Given the description of an element on the screen output the (x, y) to click on. 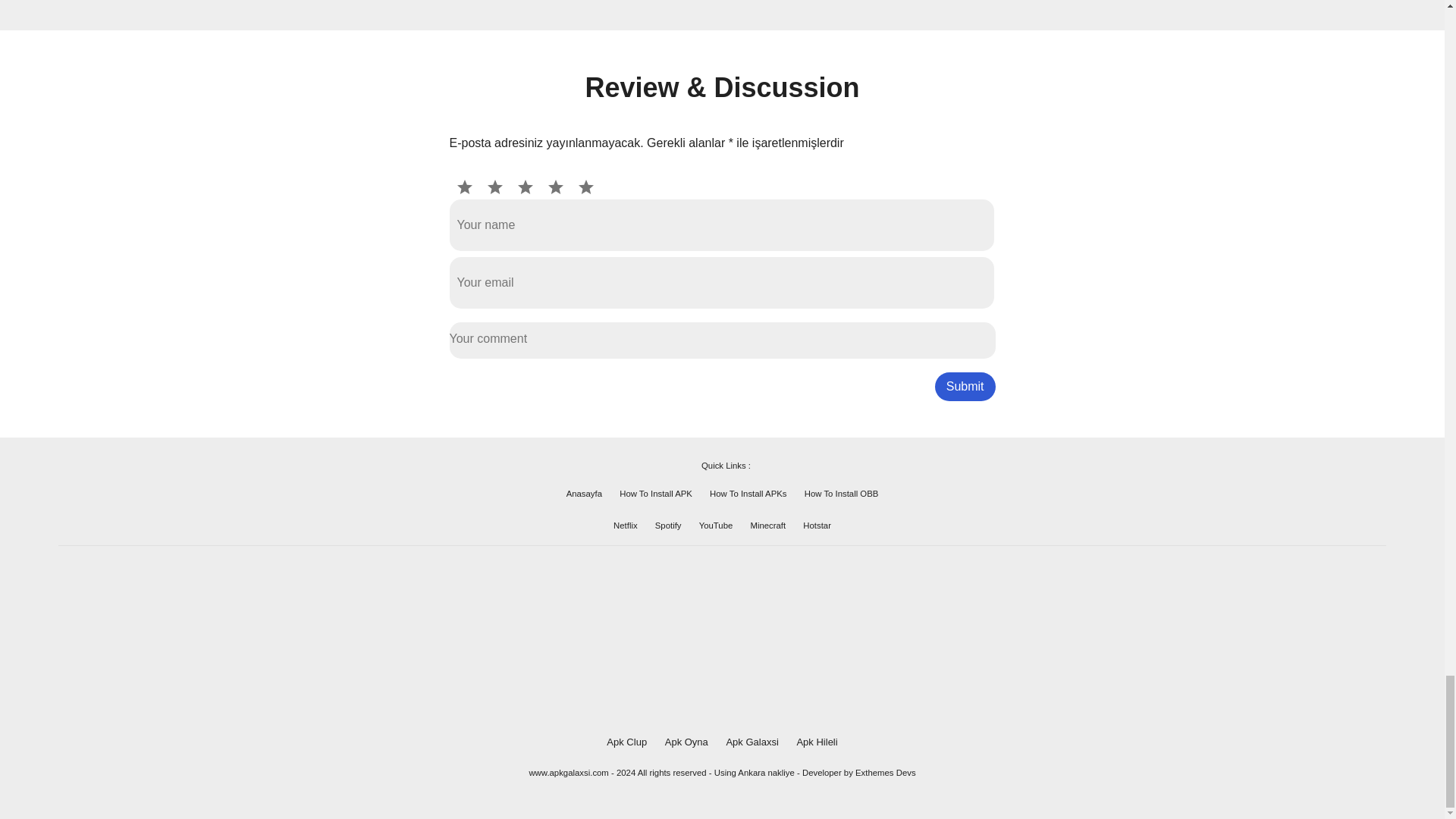
Anasayfa (584, 492)
Apk Oyna (686, 741)
Apk Hileli (816, 741)
Submit (964, 386)
How To Install APK (656, 492)
Apk Galaxsi (751, 741)
Apk Clup (626, 741)
premium wordpress themes - exthem.es (885, 772)
